Given the description of an element on the screen output the (x, y) to click on. 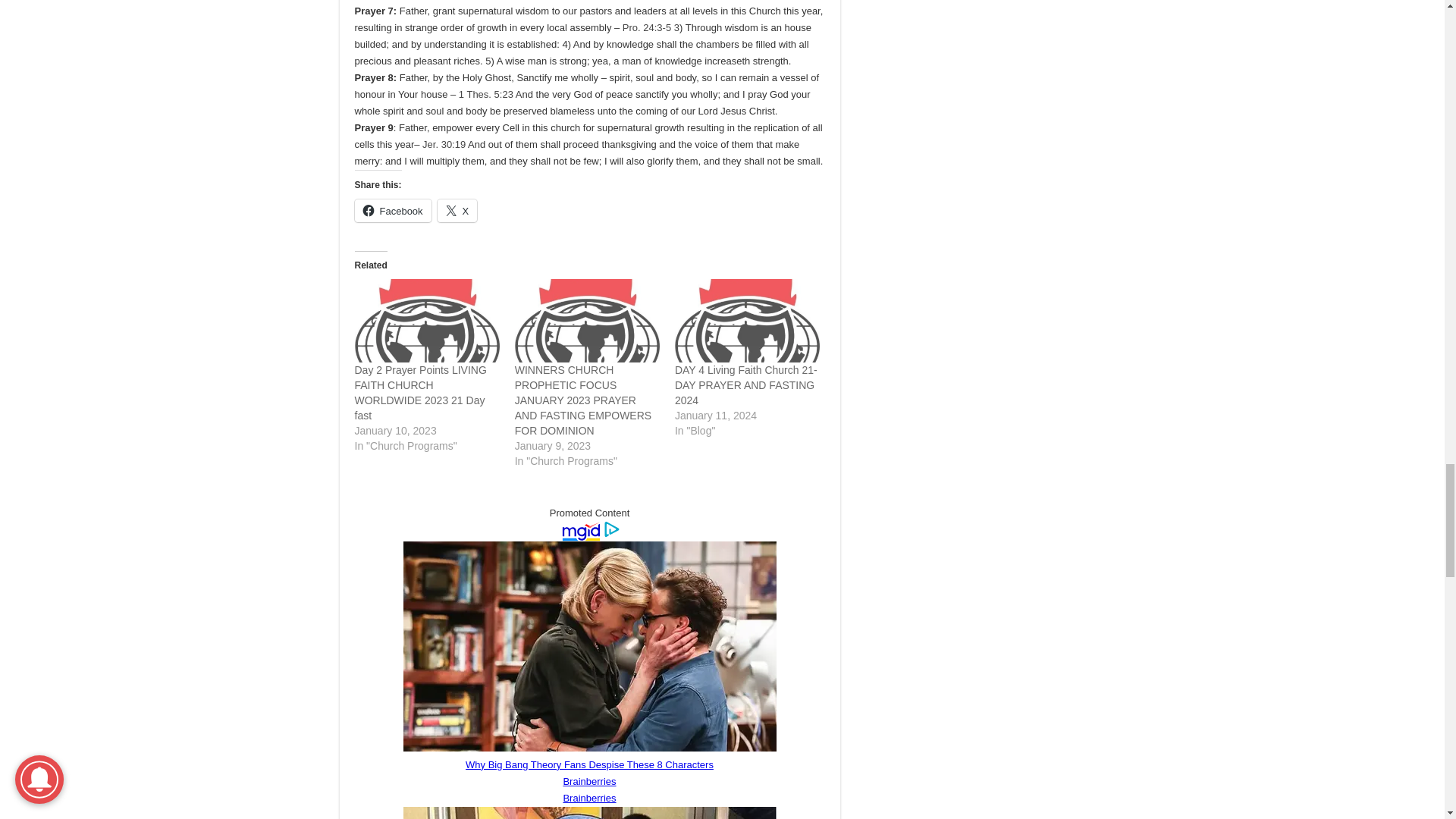
Click to share on X (457, 210)
DAY 4 Living Faith Church 21-DAY PRAYER AND FASTING 2024 (747, 320)
Click to share on Facebook (392, 210)
